Given the description of an element on the screen output the (x, y) to click on. 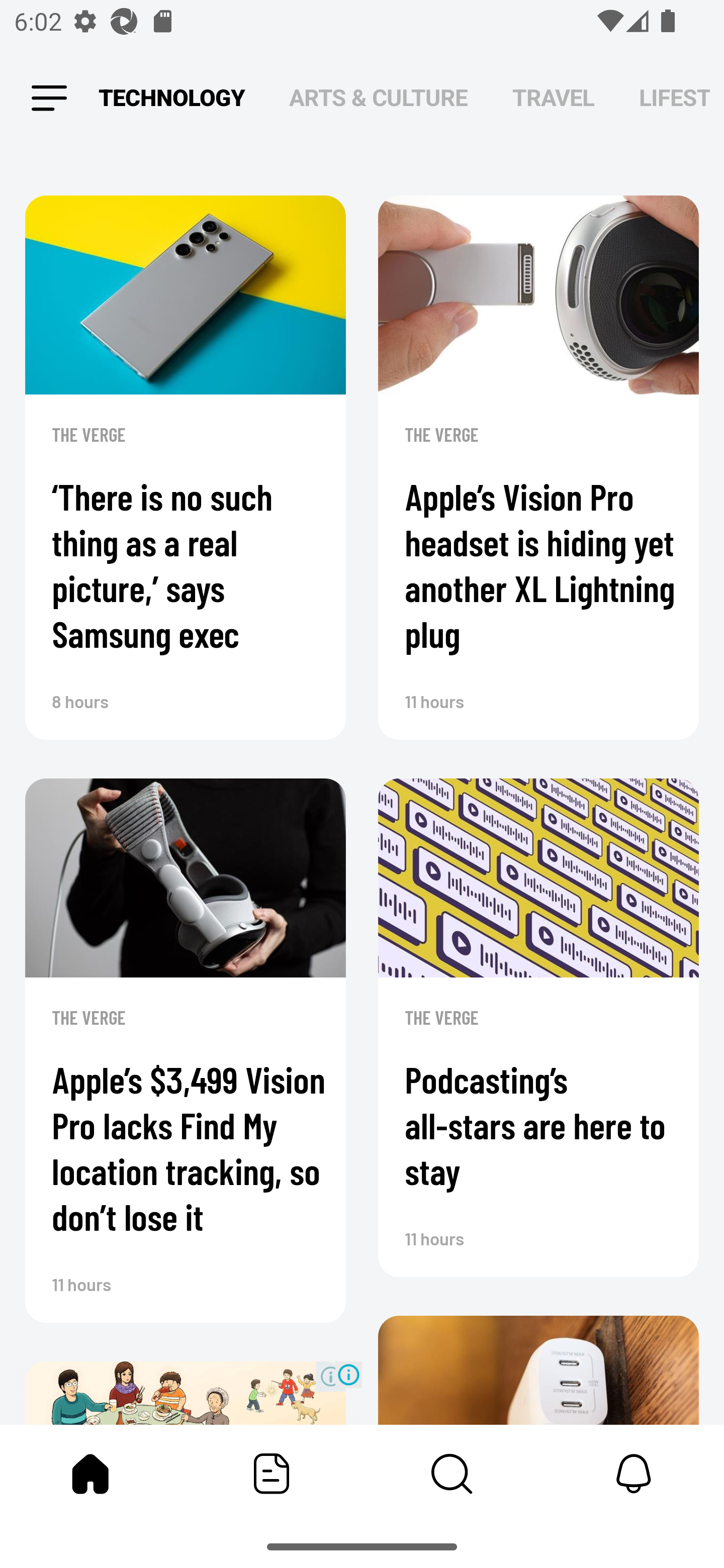
Leading Icon (49, 98)
ARTS & CULTURE (378, 97)
TRAVEL (553, 97)
LIFESTYLE (674, 97)
Featured (271, 1473)
Content Store (452, 1473)
Notifications (633, 1473)
